Given the description of an element on the screen output the (x, y) to click on. 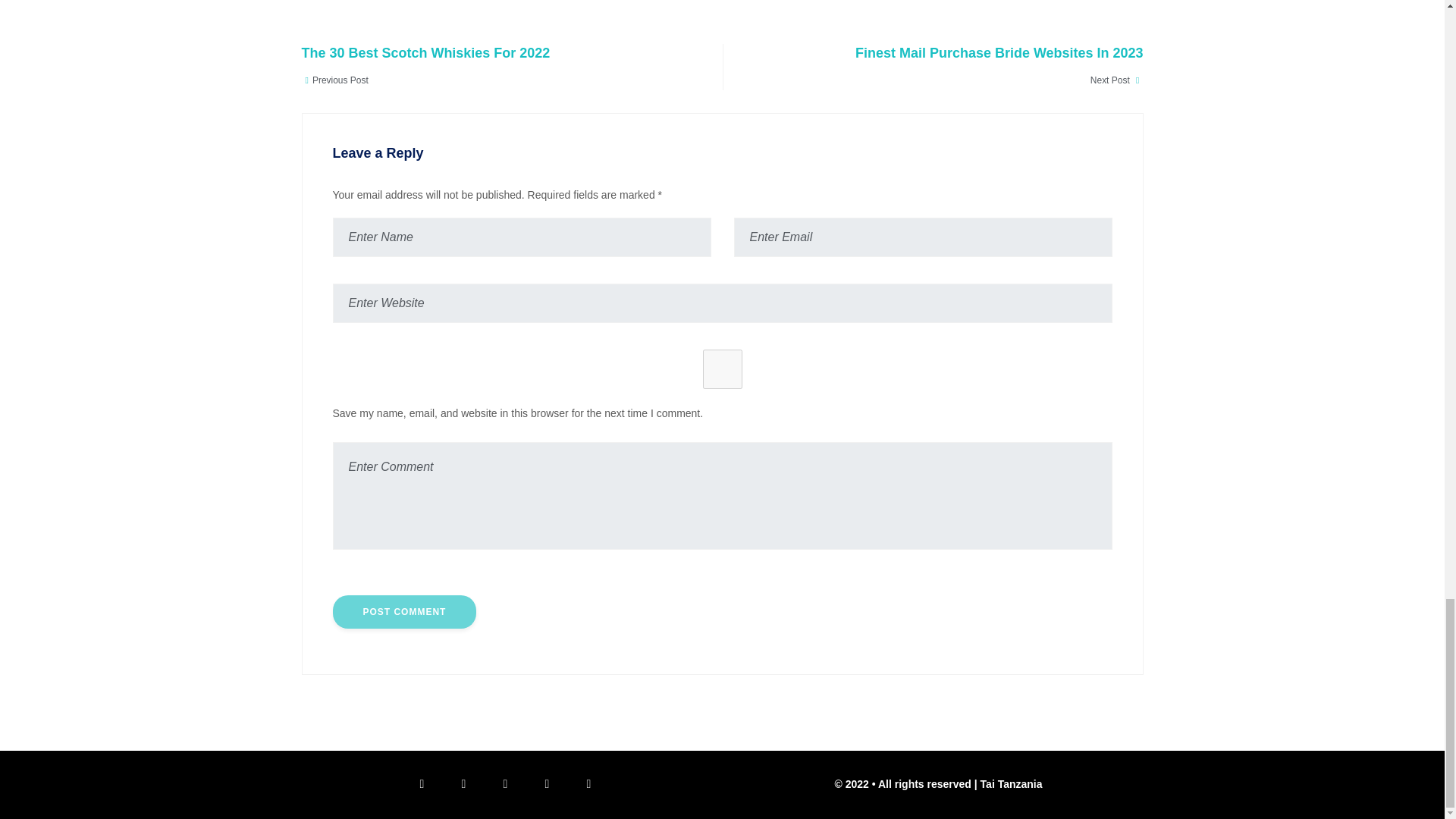
Post Comment (948, 67)
Post Comment (403, 611)
yes (497, 67)
